Given the description of an element on the screen output the (x, y) to click on. 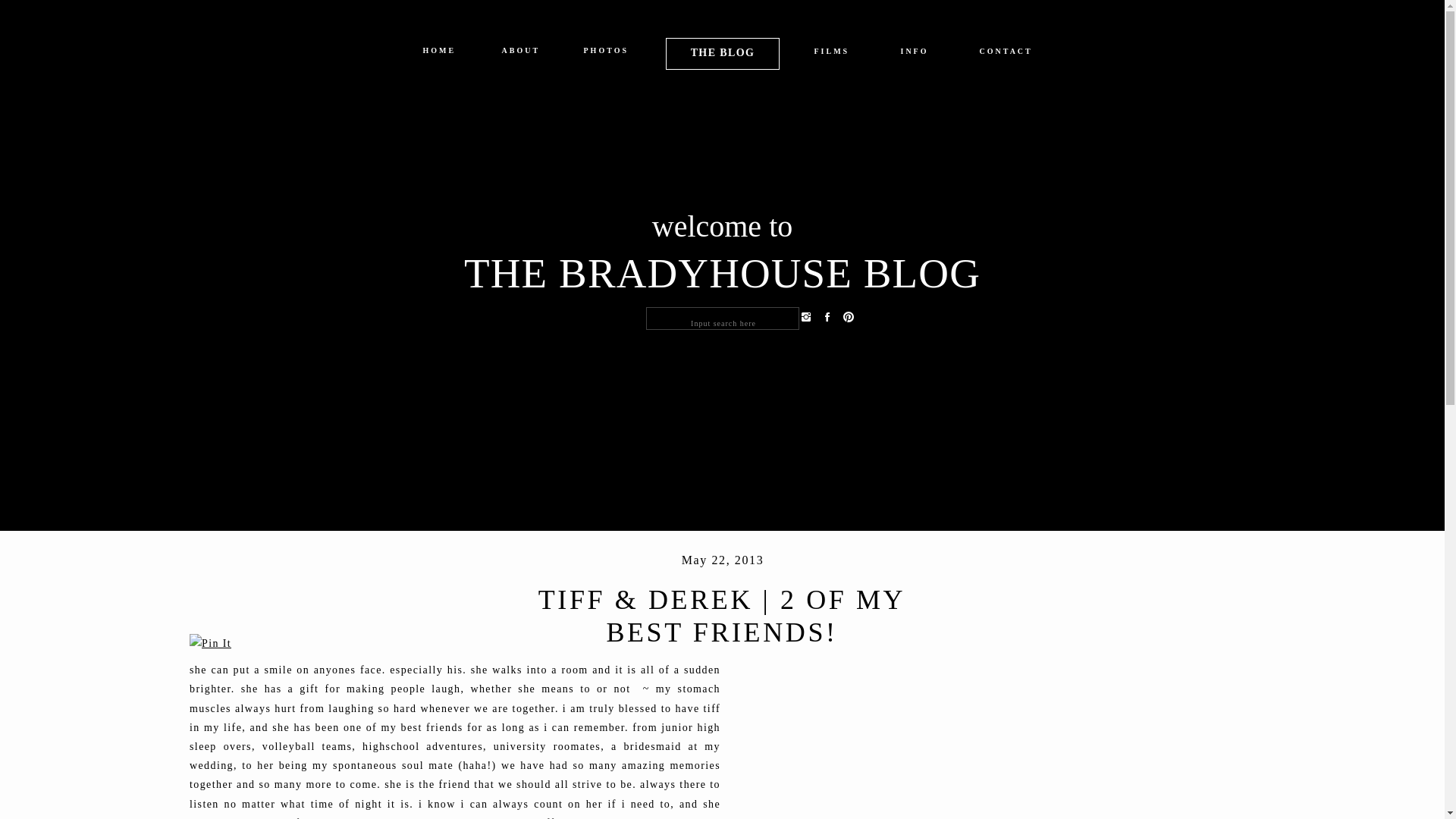
HOME (439, 53)
FILMS (831, 54)
INFO (914, 54)
PHOTOS (605, 53)
THE BLOG (722, 51)
ABOUT (520, 53)
Pin It (210, 642)
CONTACT (1004, 54)
